Given the description of an element on the screen output the (x, y) to click on. 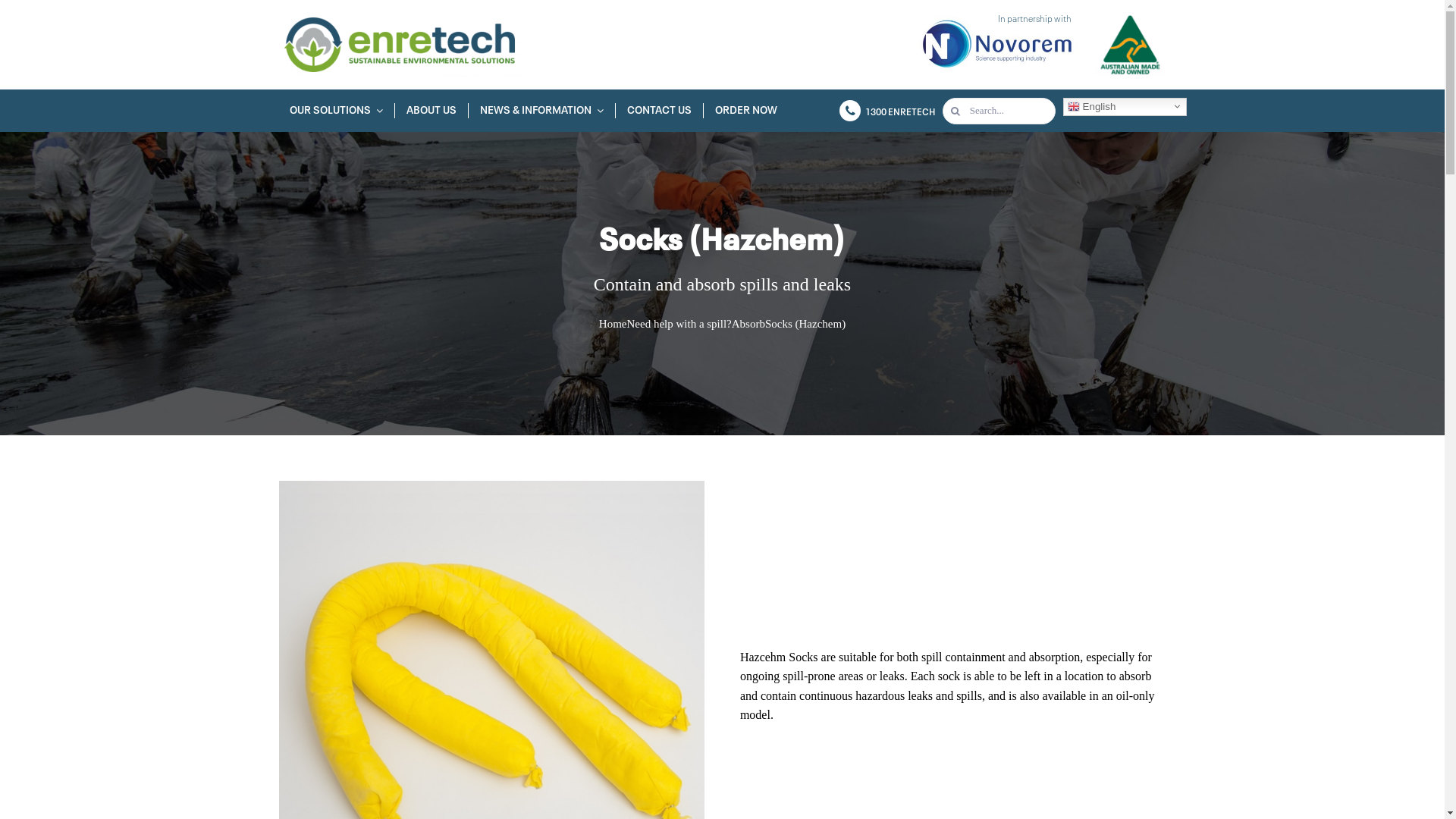
ORDER NOW Element type: text (745, 110)
Need help with a spill? Element type: text (678, 323)
australian made owned Element type: hover (1129, 43)
English Element type: text (1124, 106)
novorem-logo Element type: hover (996, 44)
ABOUT US Element type: text (431, 110)
CONTACT US Element type: text (659, 110)
OUR SOLUTIONS Element type: text (336, 110)
Absorb Element type: text (748, 323)
Home Element type: text (613, 323)
NEWS & INFORMATION Element type: text (541, 110)
